Given the description of an element on the screen output the (x, y) to click on. 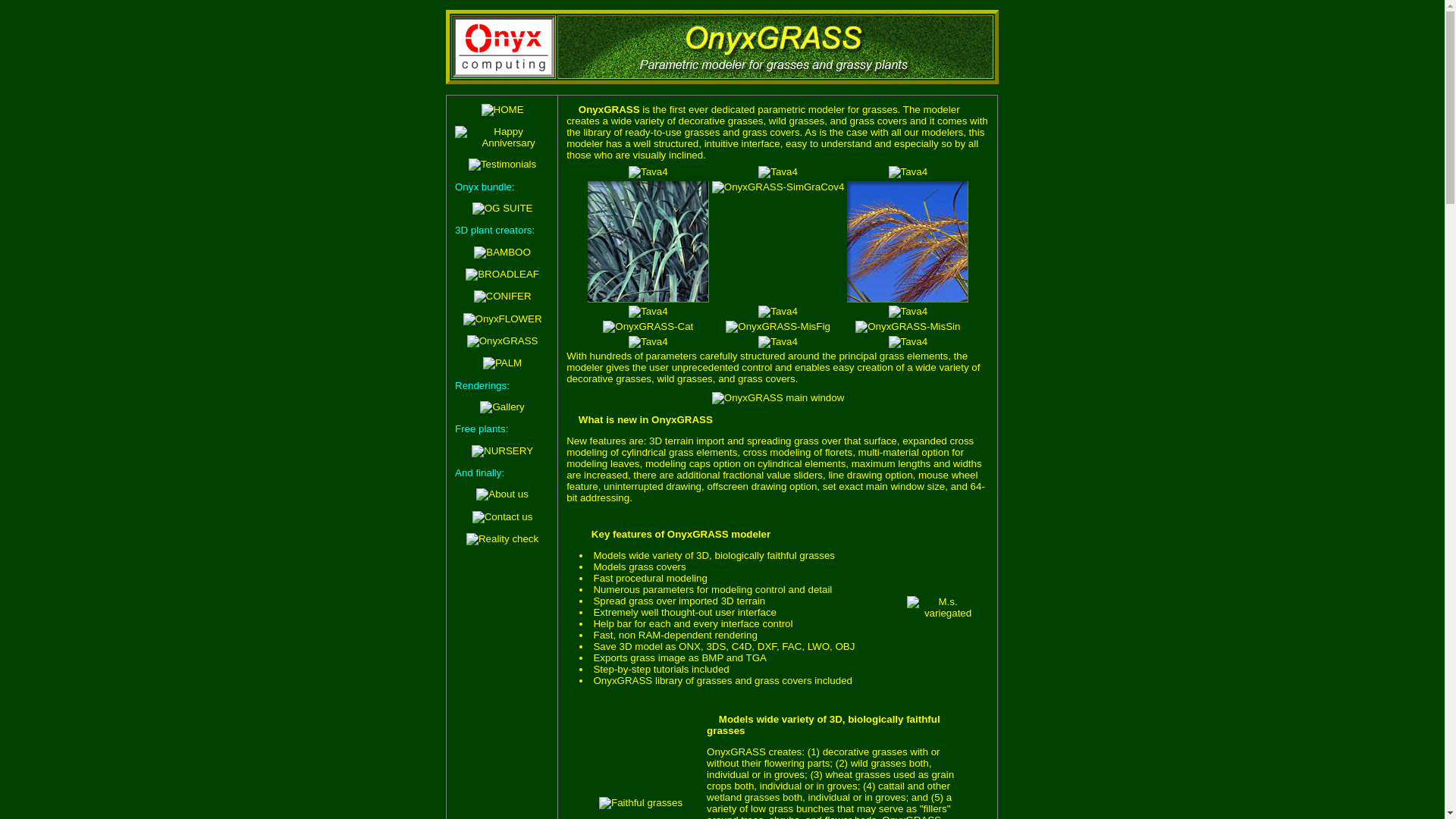
OnyxGRASS-MisFig (777, 326)
M.s. variegated (941, 607)
OnyxGRASS-ElyCam (907, 241)
OnyxGRASS-ElyAre (648, 241)
OnyxGRASS-MisSin (907, 326)
OnyxGRASS main window (777, 398)
OnyxGRASS-SimGraCov4 (777, 186)
In business since 1992 (502, 137)
Faithful grasses (640, 802)
OnyxGRASS-Cat (647, 326)
